Given the description of an element on the screen output the (x, y) to click on. 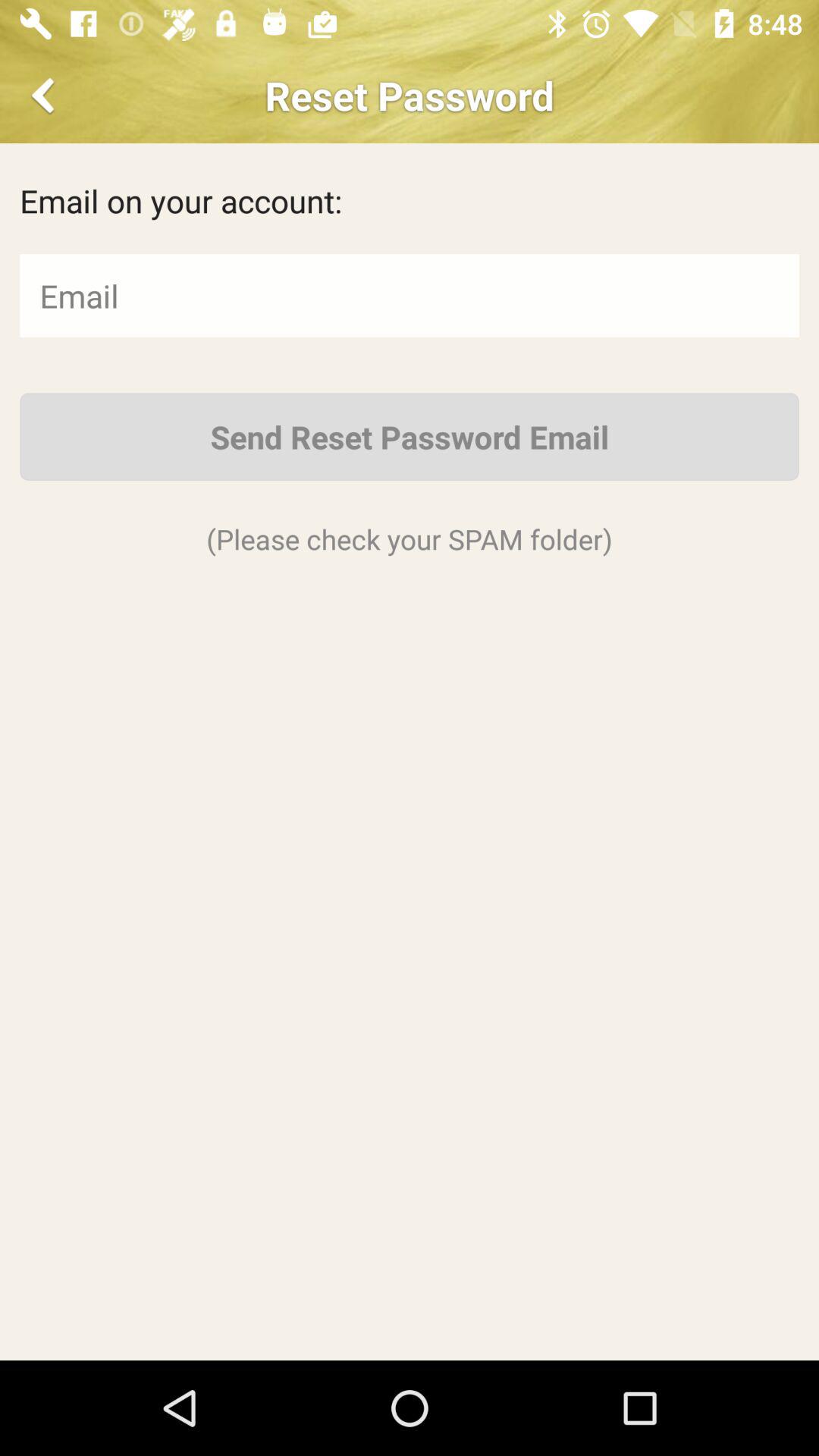
press the app to the left of reset password icon (45, 95)
